Given the description of an element on the screen output the (x, y) to click on. 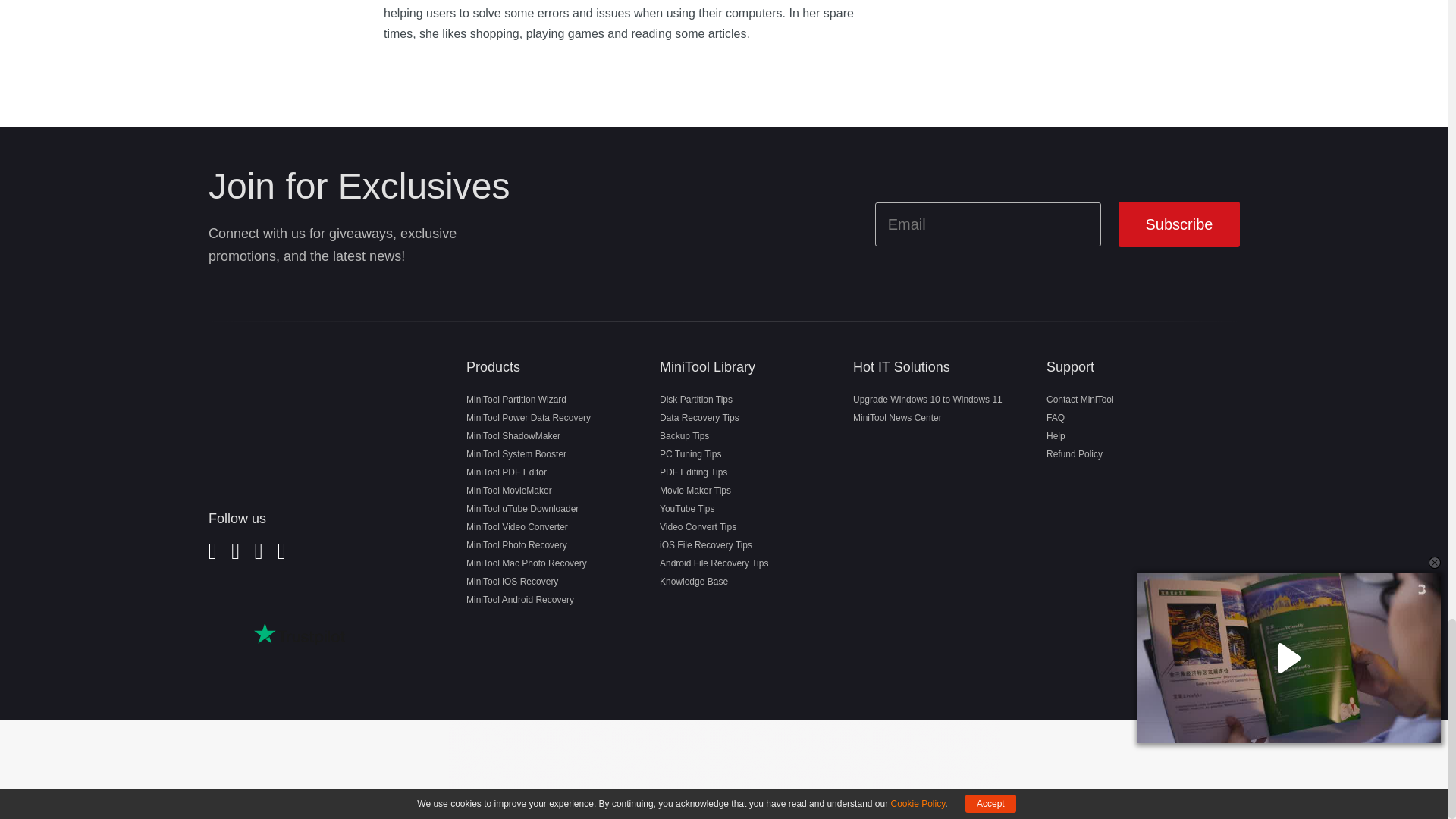
Subscribe (1179, 224)
Customer reviews powered by Trustpilot (299, 634)
